Given the description of an element on the screen output the (x, y) to click on. 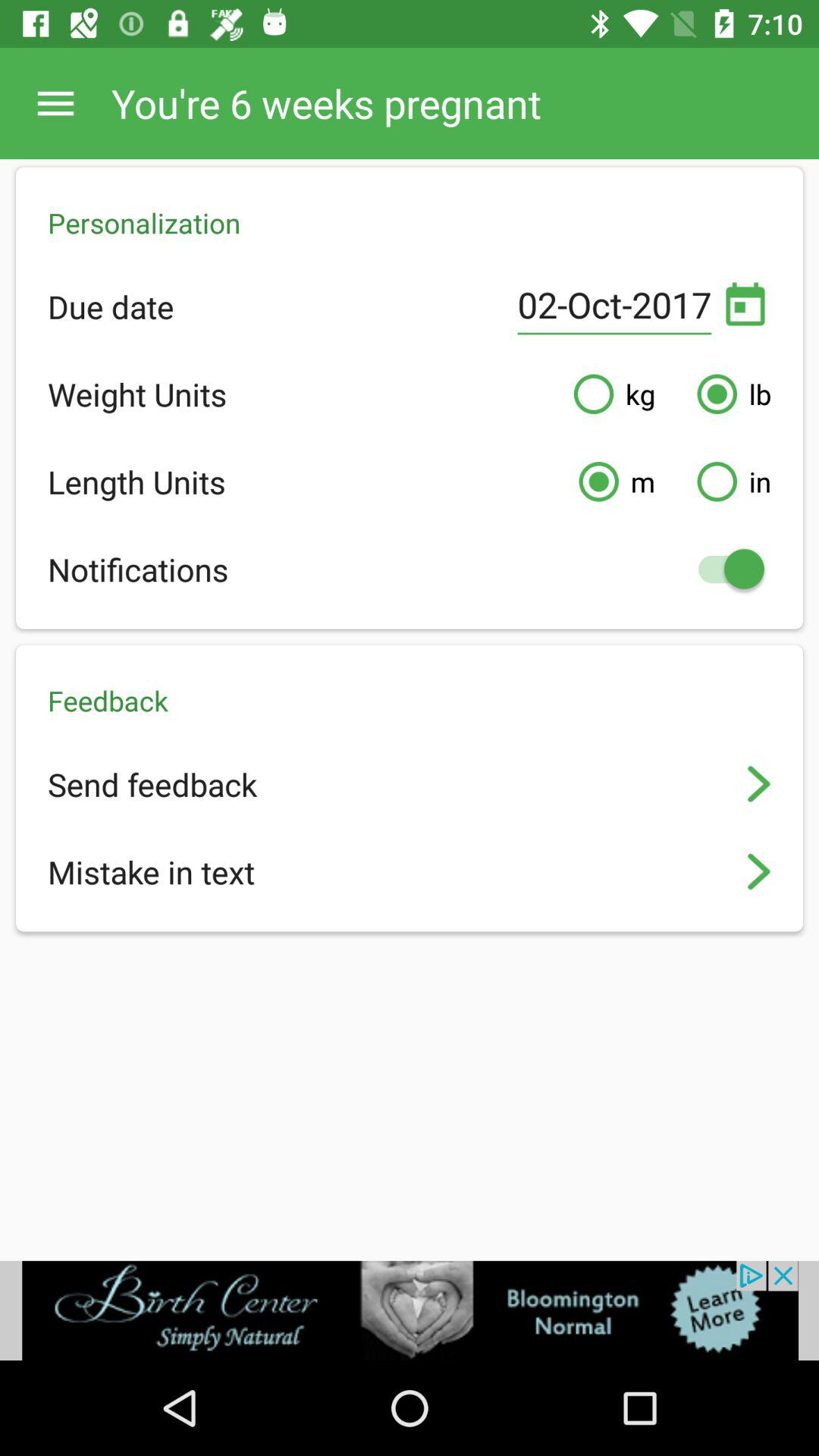
learn about this product (409, 1310)
